Given the description of an element on the screen output the (x, y) to click on. 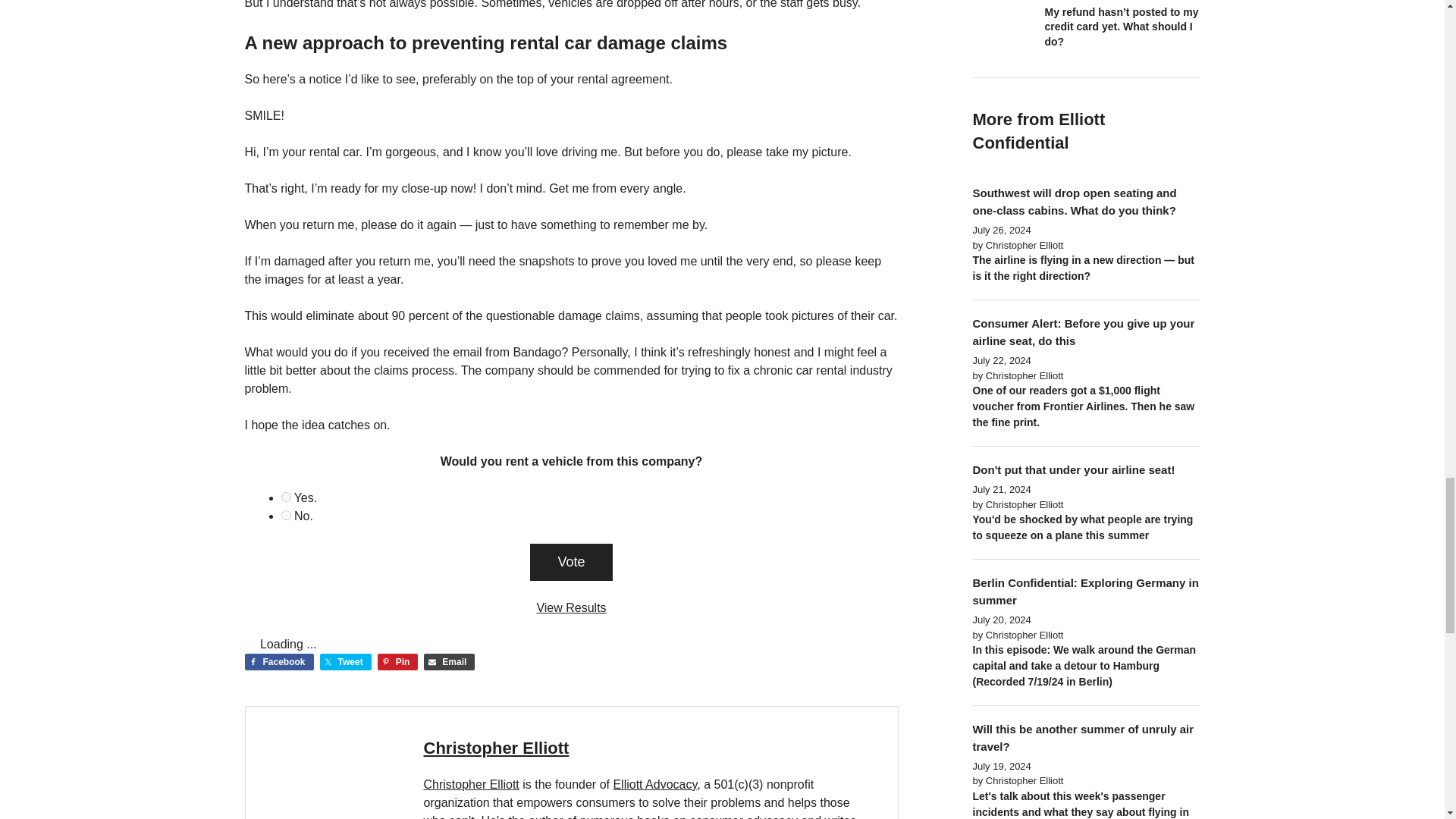
Share on Facebook (278, 661)
Share via Email (448, 661)
262 (285, 497)
Share on Twitter (345, 661)
View Results Of This Poll (570, 607)
   Vote    (570, 561)
Email (448, 661)
Share on Pinterest (398, 661)
263 (285, 515)
Loading ... (250, 642)
